Given the description of an element on the screen output the (x, y) to click on. 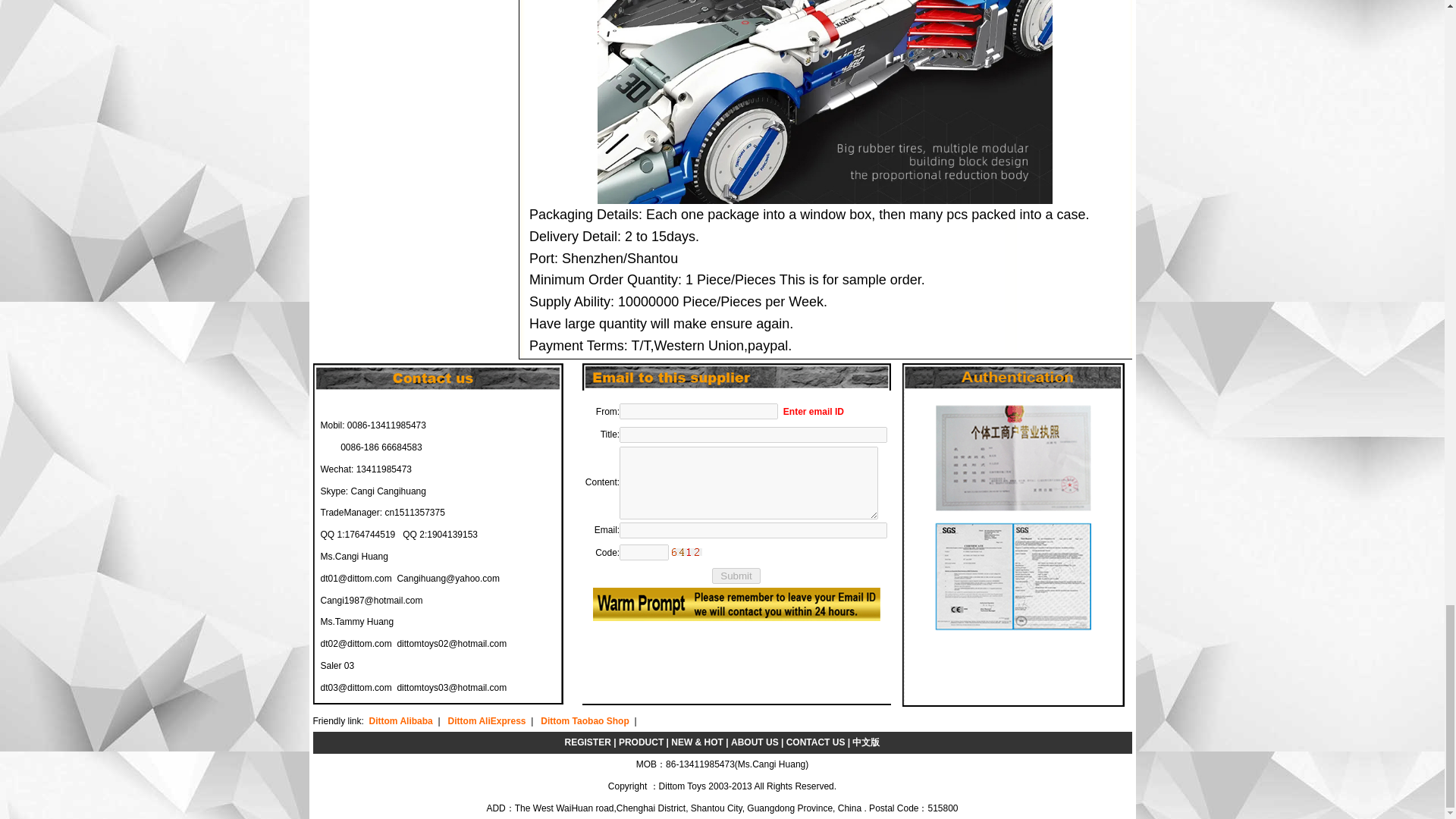
 Submit  (736, 575)
PRODUCT (640, 742)
Dittom Taobao Shop (584, 720)
Dittom AliExpress (486, 720)
 Submit  (736, 575)
Dittom Alibaba (400, 720)
REGISTER (587, 742)
